Given the description of an element on the screen output the (x, y) to click on. 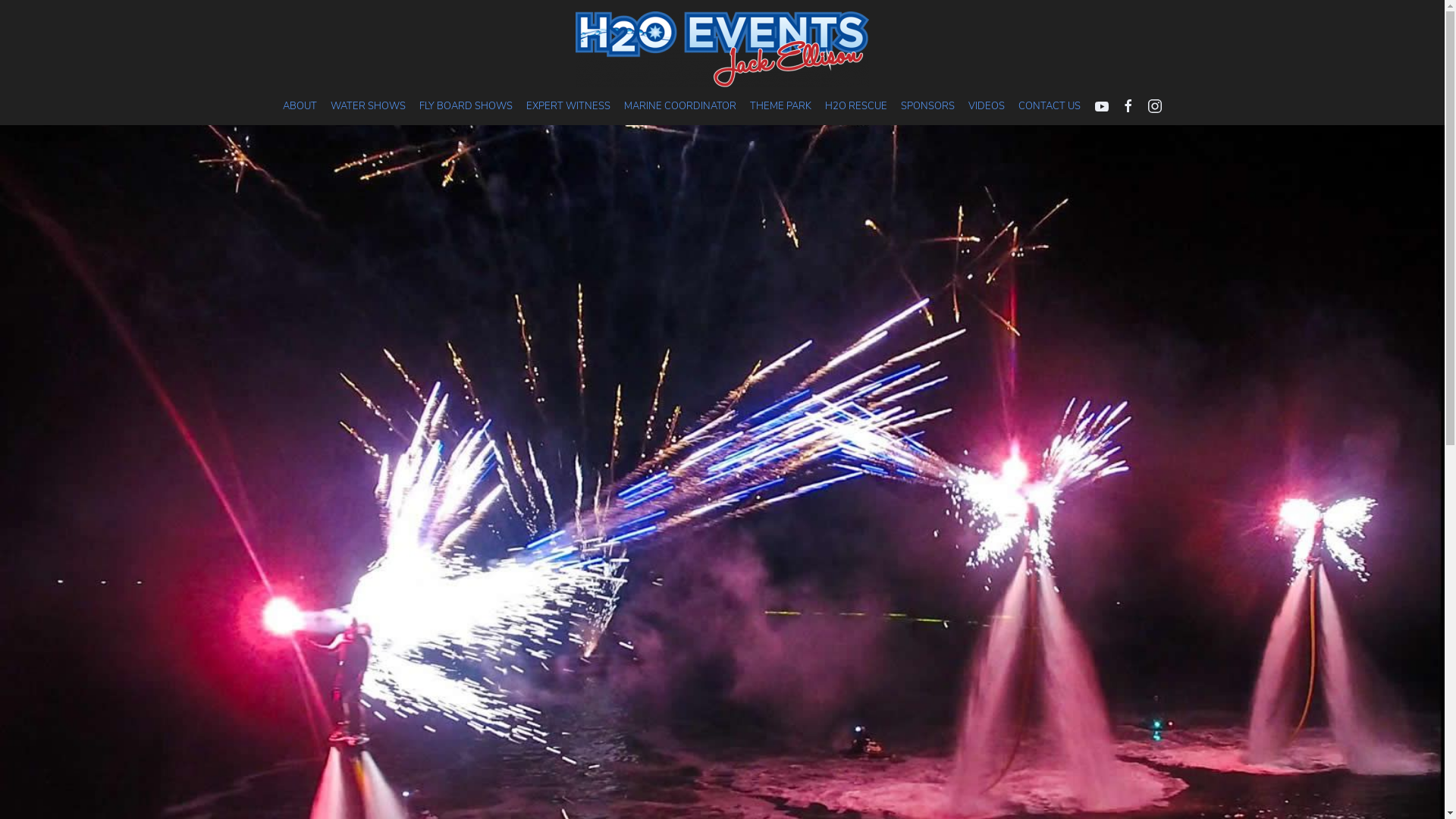
MARINE COORDINATOR Element type: text (680, 106)
CONTACT US Element type: text (1049, 106)
VIDEOS Element type: text (986, 106)
FLY BOARD SHOWS Element type: text (465, 106)
SPONSORS Element type: text (926, 106)
WATER SHOWS Element type: text (367, 106)
H2O RESCUE Element type: text (855, 106)
ABOUT Element type: text (299, 106)
EXPERT WITNESS Element type: text (567, 106)
THEME PARK Element type: text (780, 106)
